Given the description of an element on the screen output the (x, y) to click on. 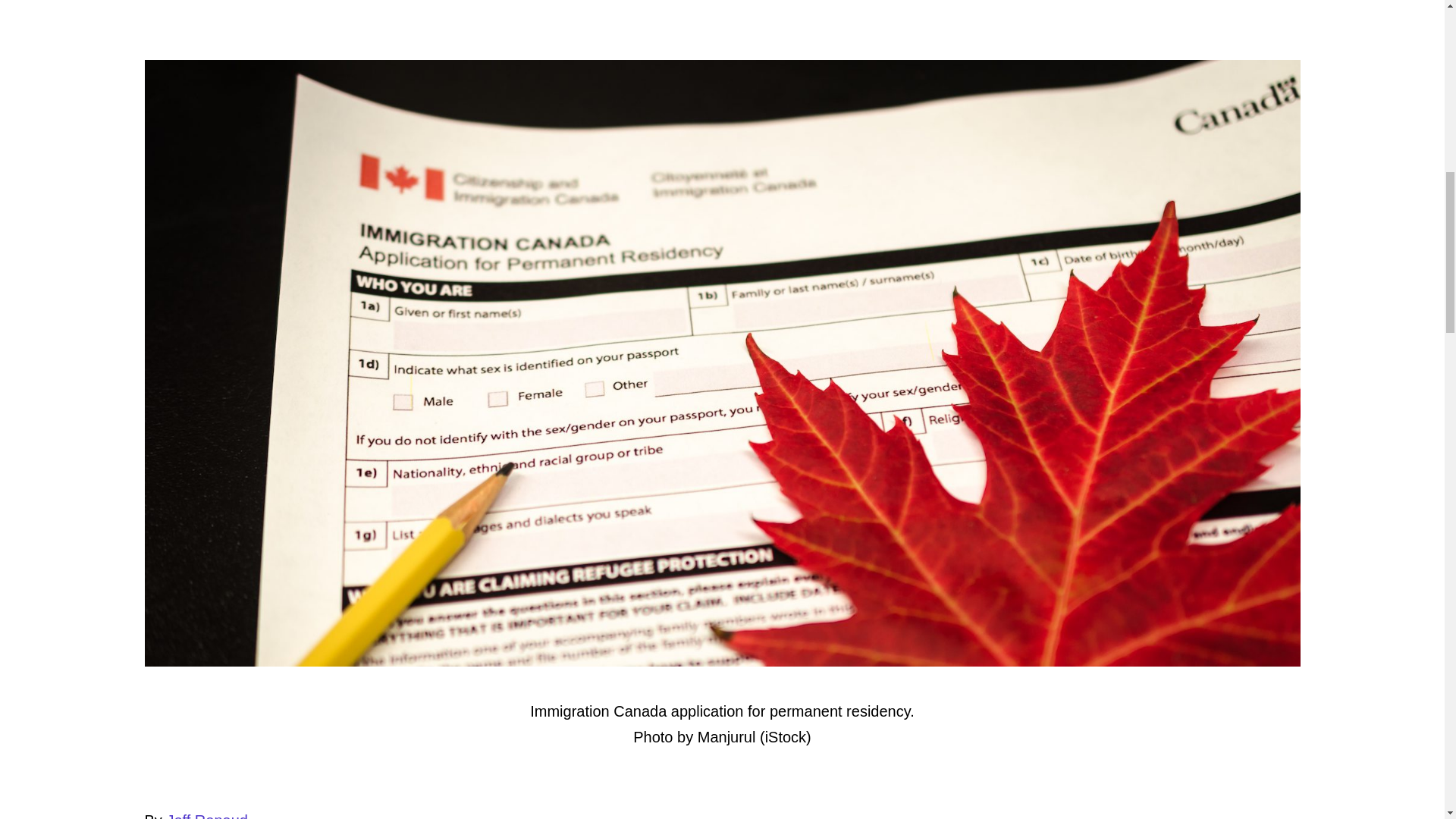
Jeff Renaud (206, 815)
